Given the description of an element on the screen output the (x, y) to click on. 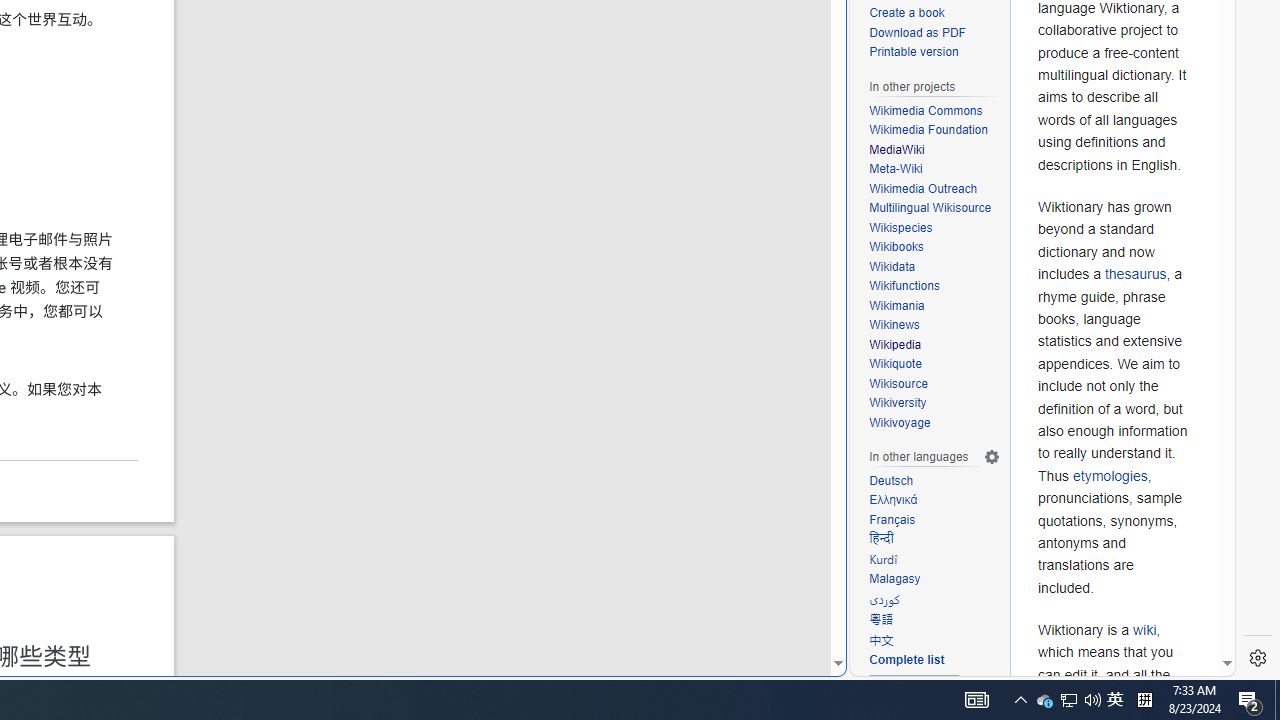
Deutsch (934, 480)
Wikifunctions (934, 286)
Wikimedia Commons (934, 110)
Multilingual Wikisource (934, 208)
Wikisource (934, 384)
Wikinews (894, 325)
Wikimania (934, 305)
Wikiquote (895, 364)
Wikiquote (934, 364)
Multilingual Wikisource (930, 208)
